Given the description of an element on the screen output the (x, y) to click on. 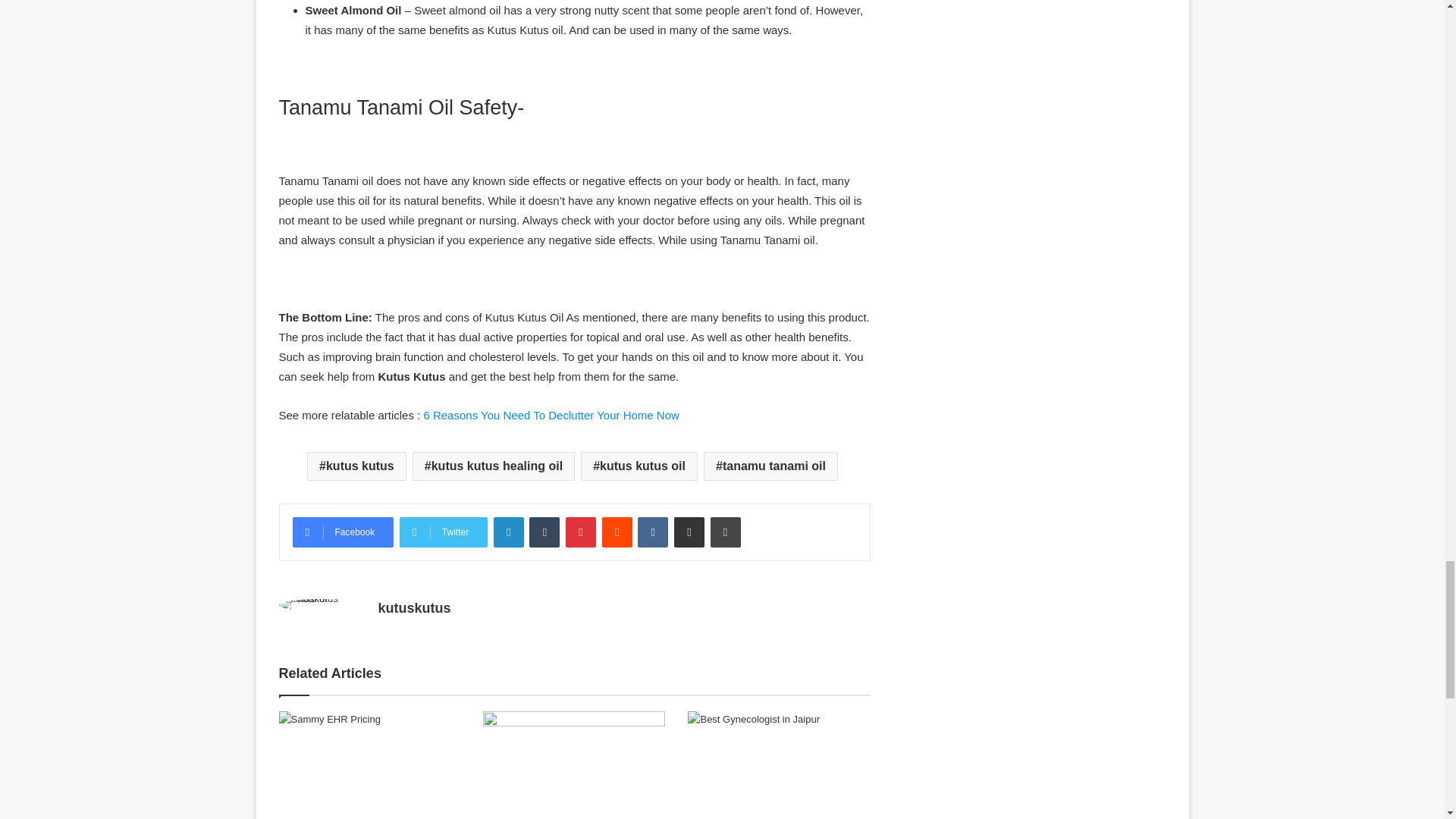
Print (725, 531)
VKontakte (652, 531)
kutus kutus (356, 466)
6 Reasons You Need To Declutter Your Home Now (550, 414)
Twitter (442, 531)
Tumblr (544, 531)
VKontakte (652, 531)
Share via Email (689, 531)
tanamu tanami oil (770, 466)
LinkedIn (508, 531)
